Given the description of an element on the screen output the (x, y) to click on. 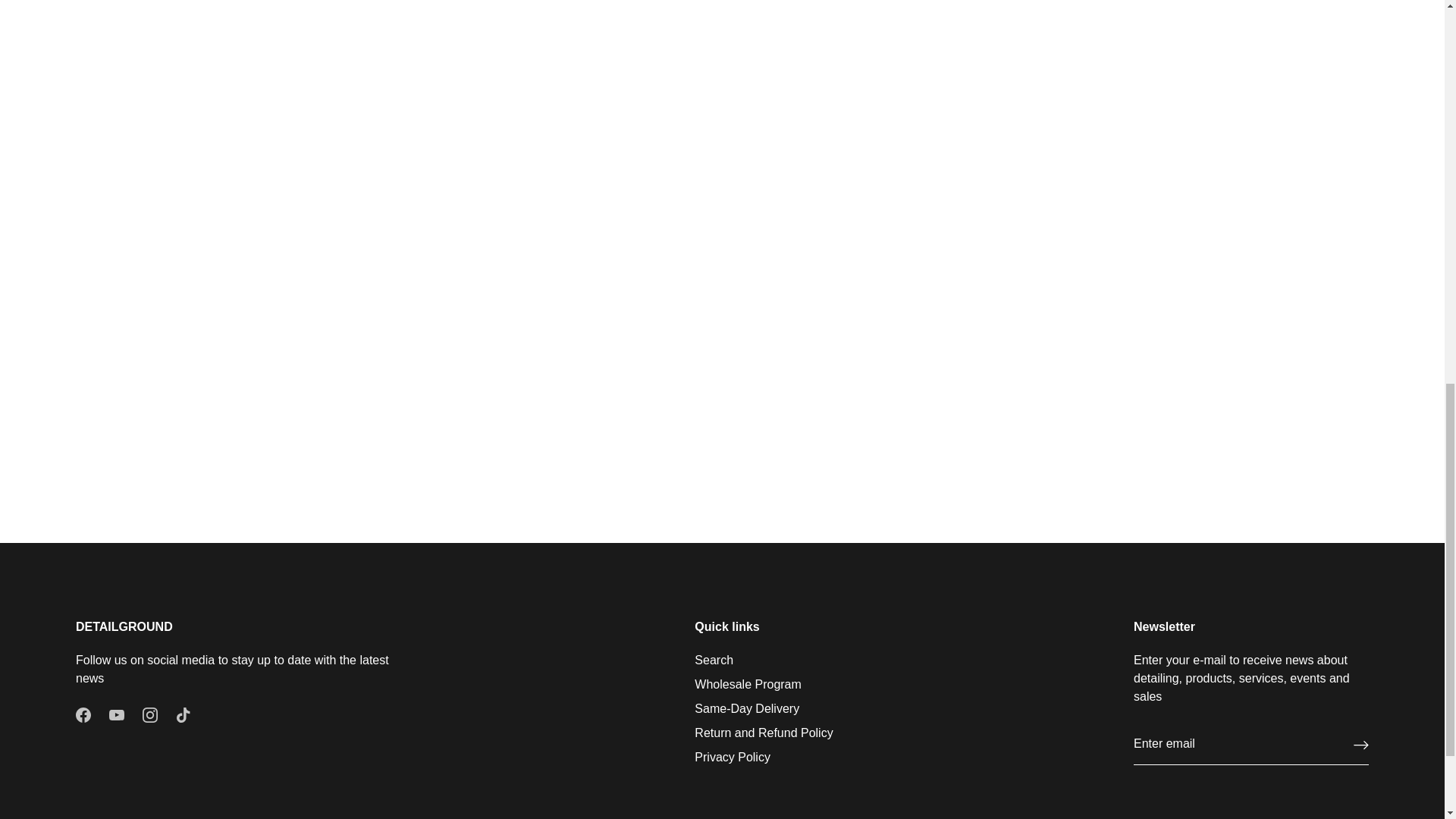
Youtube (116, 714)
Right arrow long (1361, 744)
Instagram (149, 714)
